Given the description of an element on the screen output the (x, y) to click on. 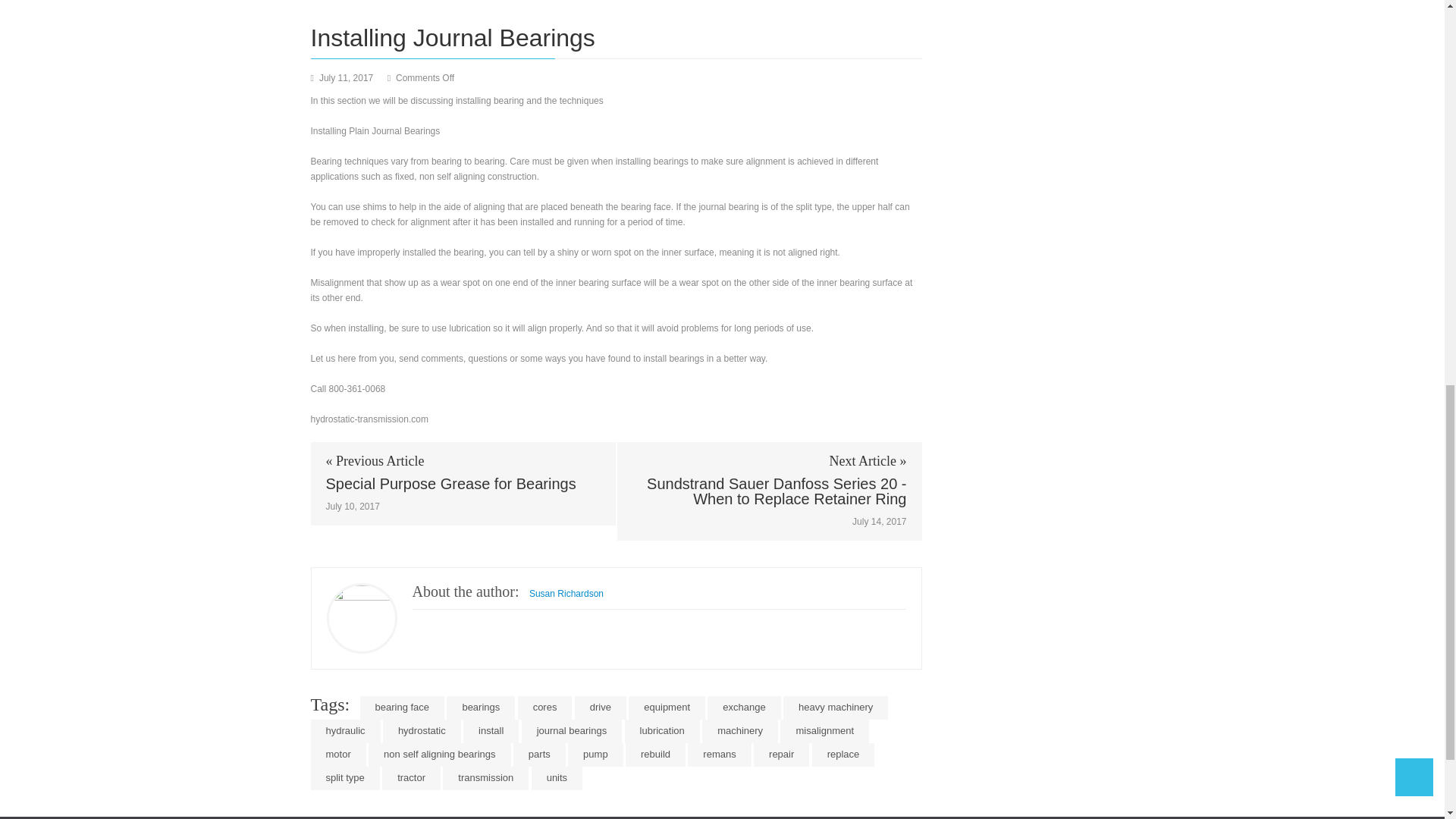
hydrostatic (421, 730)
tractor (411, 778)
remans (719, 754)
Special Purpose Grease for Bearings (462, 483)
misalignment (824, 730)
hydraulic (345, 730)
non self aligning bearings (439, 754)
Posts by Susan Richardson (566, 593)
pump (595, 754)
units (556, 778)
repair (781, 754)
journal bearings (572, 730)
Susan Richardson (566, 593)
transmission (485, 778)
